Given the description of an element on the screen output the (x, y) to click on. 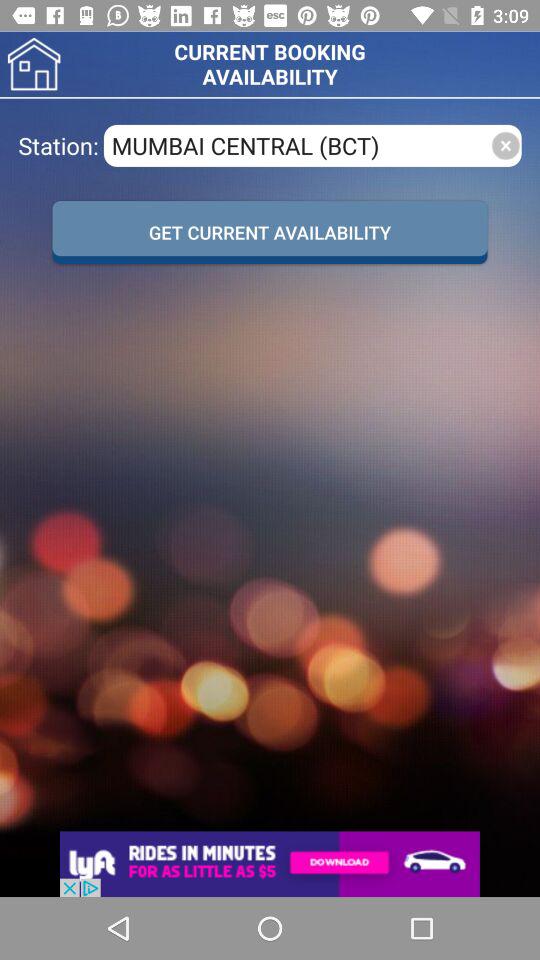
home (33, 63)
